Given the description of an element on the screen output the (x, y) to click on. 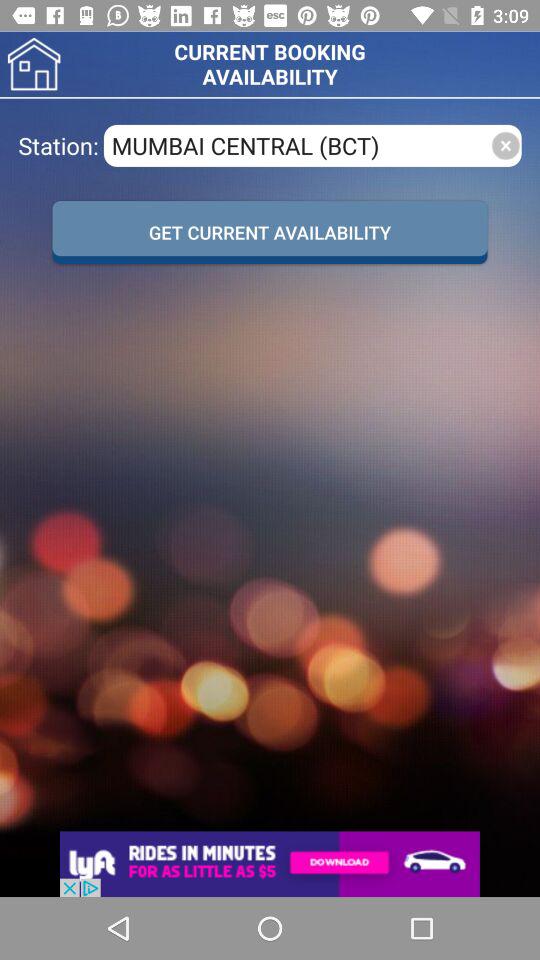
home (33, 63)
